Given the description of an element on the screen output the (x, y) to click on. 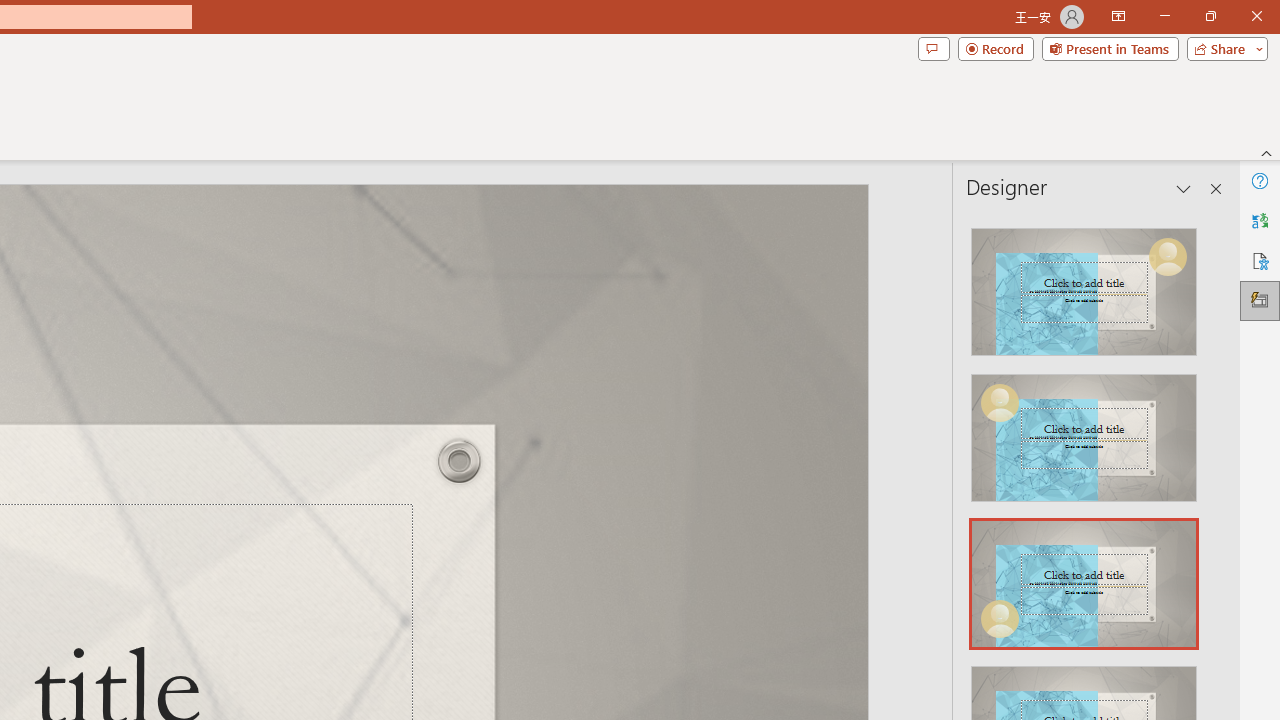
Designer (1260, 300)
Accessibility (1260, 260)
Class: NetUIImage (1083, 584)
Translator (1260, 220)
Recommended Design: Design Idea (1083, 286)
Design Idea (1083, 577)
Task Pane Options (1183, 188)
